Given the description of an element on the screen output the (x, y) to click on. 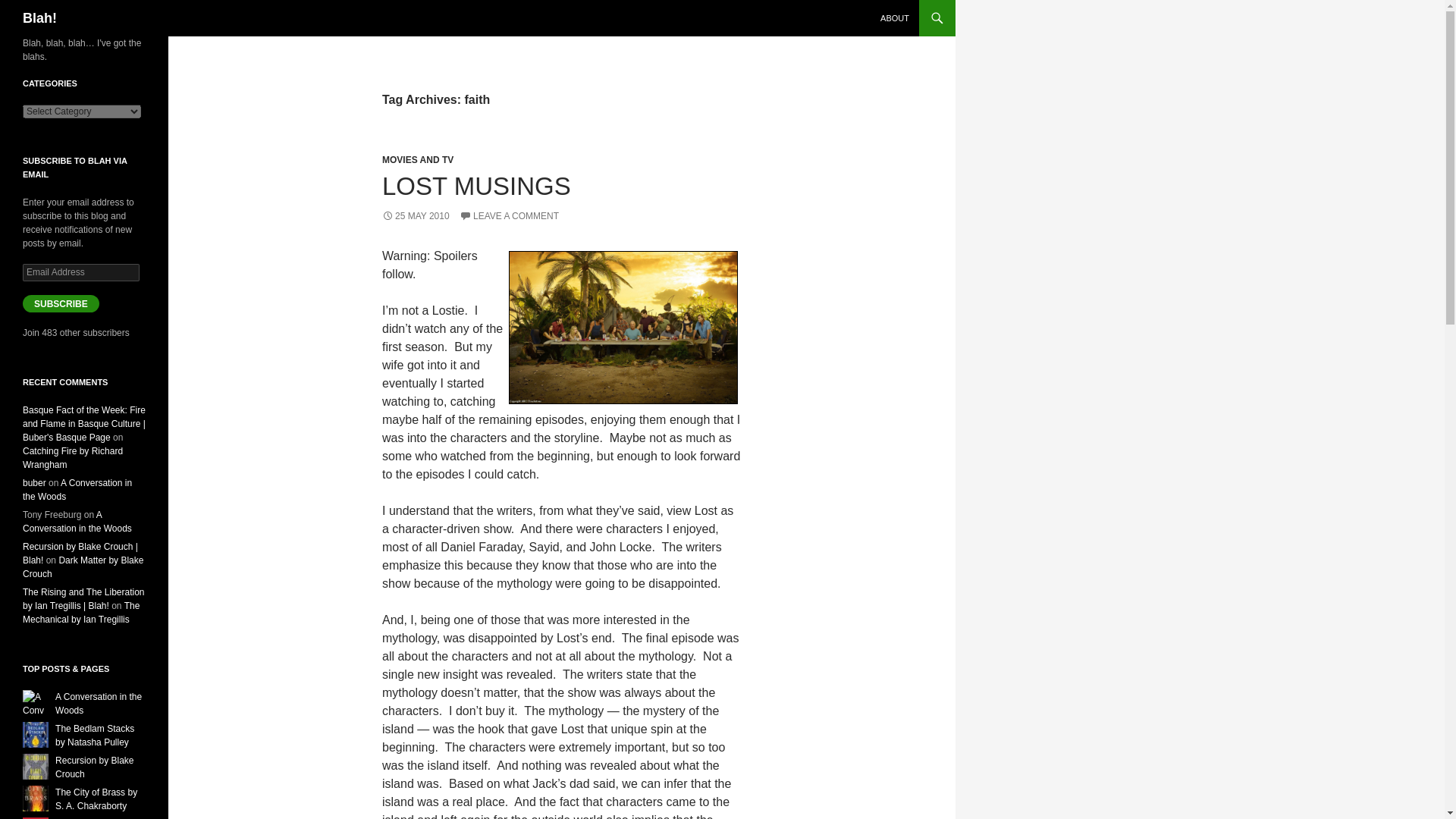
Dark Matter by Blake Crouch (82, 567)
LEAVE A COMMENT (509, 215)
buber (34, 482)
SUBSCRIBE (61, 303)
Recursion by Blake Crouch (94, 767)
A Conversation in the Woods (98, 703)
ABOUT (894, 18)
25 MAY 2010 (415, 215)
The Bedlam Stacks by Natasha Pulley (94, 735)
Blah! (39, 18)
Recursion by Blake Crouch (94, 767)
MOVIES AND TV (416, 159)
A Conversation in the Woods (77, 489)
The City of Brass by S. A. Chakraborty (95, 799)
LOST MUSINGS (475, 185)
